Given the description of an element on the screen output the (x, y) to click on. 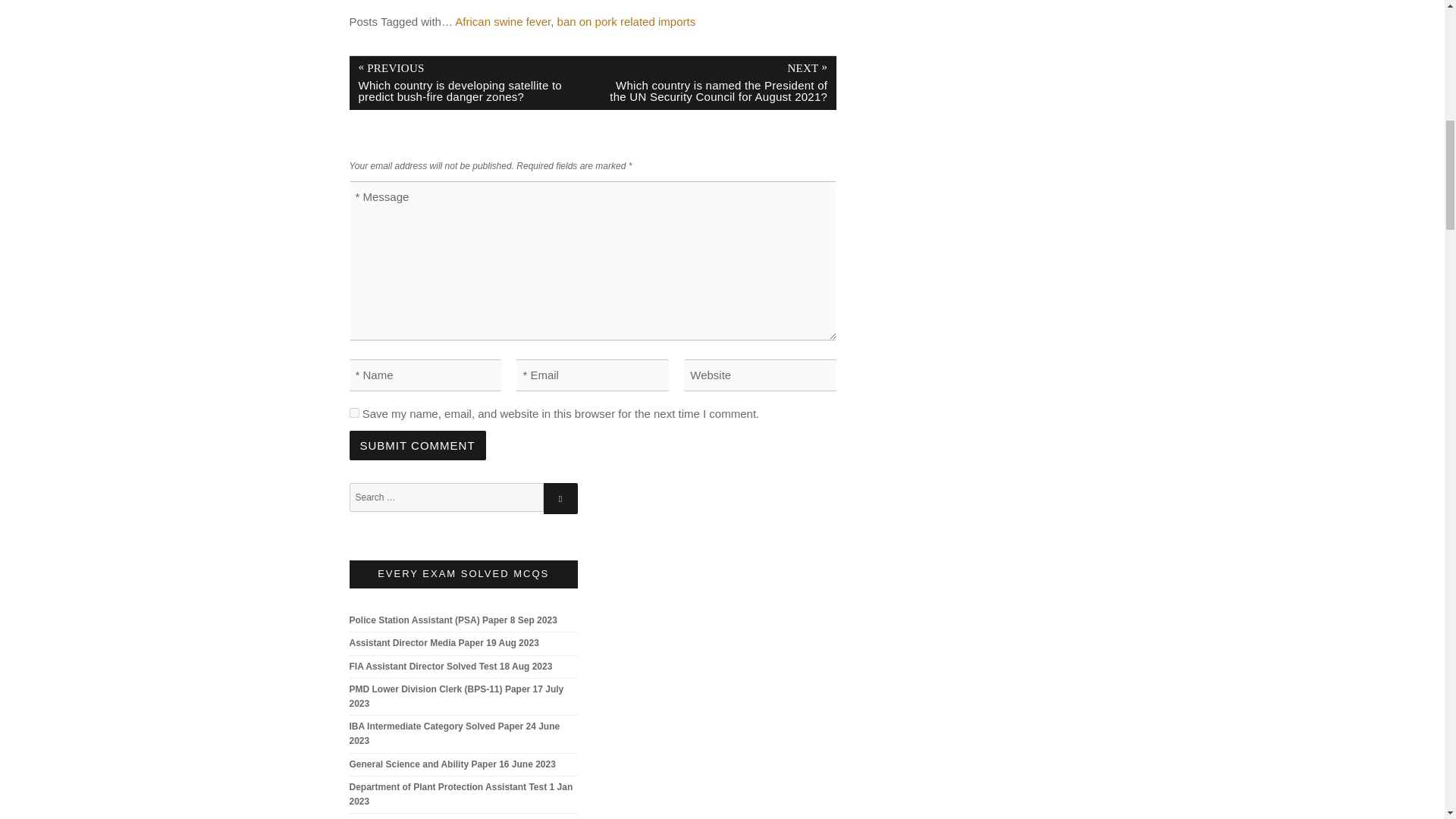
yes (353, 412)
ban on pork related imports (626, 21)
Submit Comment (416, 445)
African swine fever (502, 21)
